Given the description of an element on the screen output the (x, y) to click on. 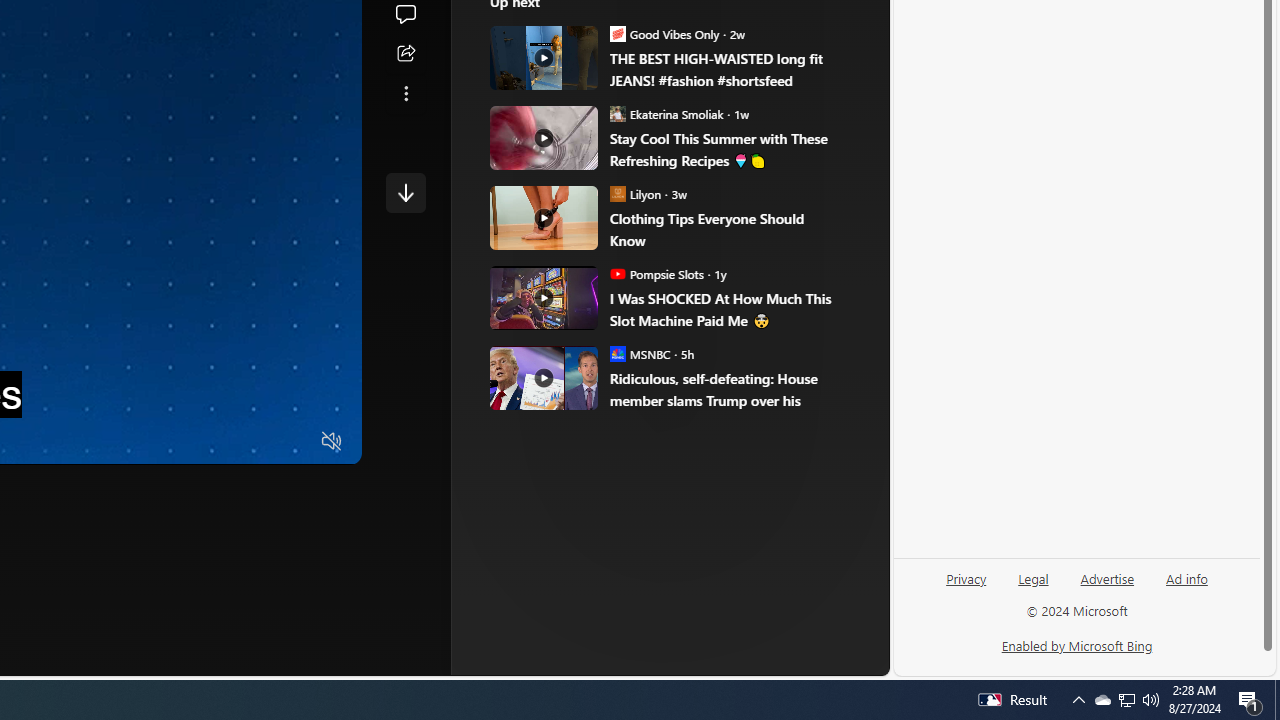
Ad (572, 337)
Advertise (1107, 577)
Ad info (1186, 586)
Legal (1033, 577)
THE BEST HIGH-WAISTED long fit JEANS! #fashion #shortsfeed (543, 57)
Unmute (332, 442)
Pompsie Slots (617, 273)
Ekaterina Smoliak (617, 113)
Clothing Tips Everyone Should Know (543, 217)
THE BEST HIGH-WAISTED long fit JEANS! #fashion #shortsfeed (726, 70)
